Given the description of an element on the screen output the (x, y) to click on. 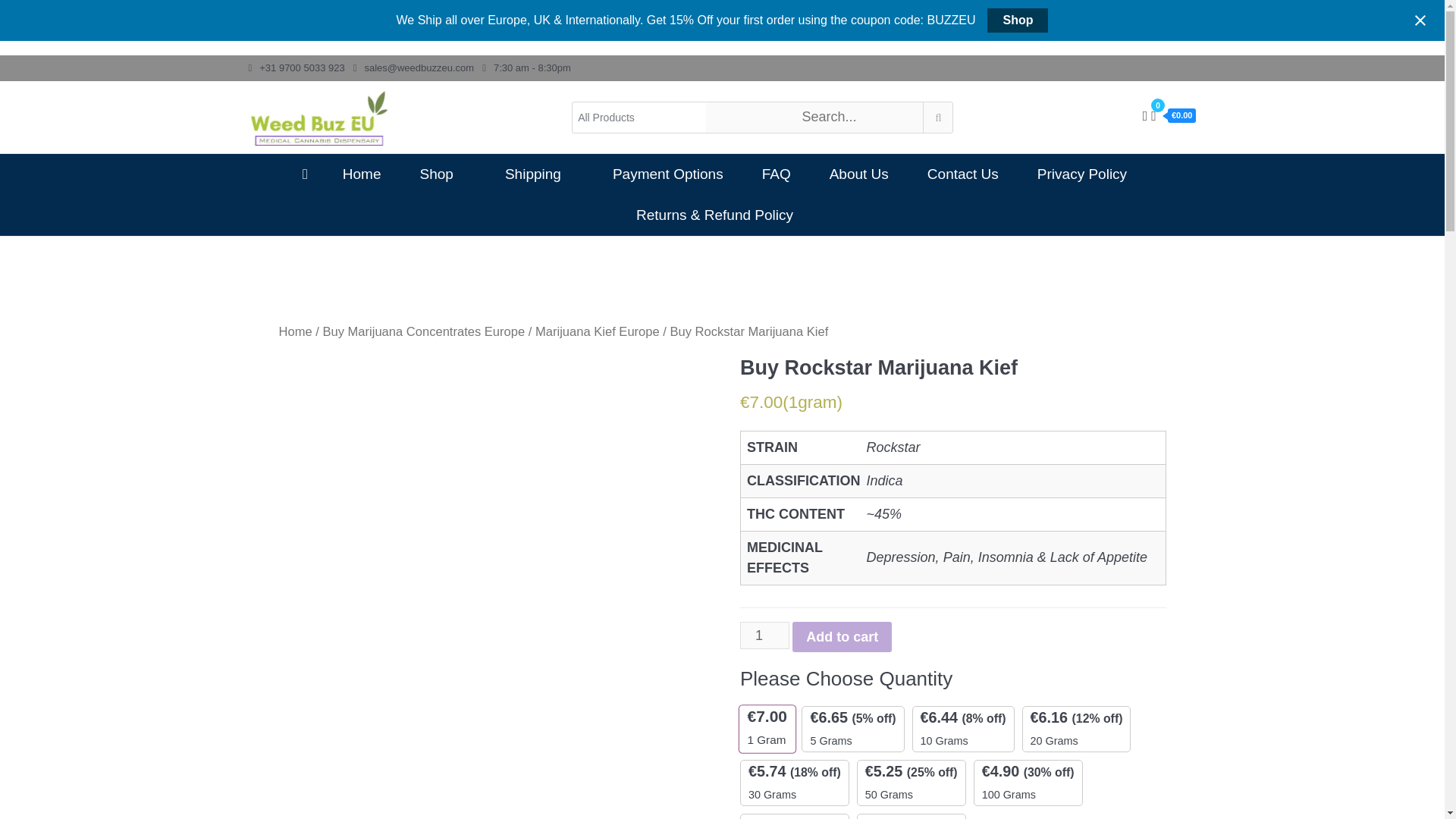
Shipping (539, 173)
Home (296, 331)
Payment Options (667, 173)
Cart (1173, 115)
Contact Us (963, 173)
Shop (1017, 20)
FAQ (776, 173)
1 (764, 635)
Home (362, 173)
Shop (443, 173)
